Given the description of an element on the screen output the (x, y) to click on. 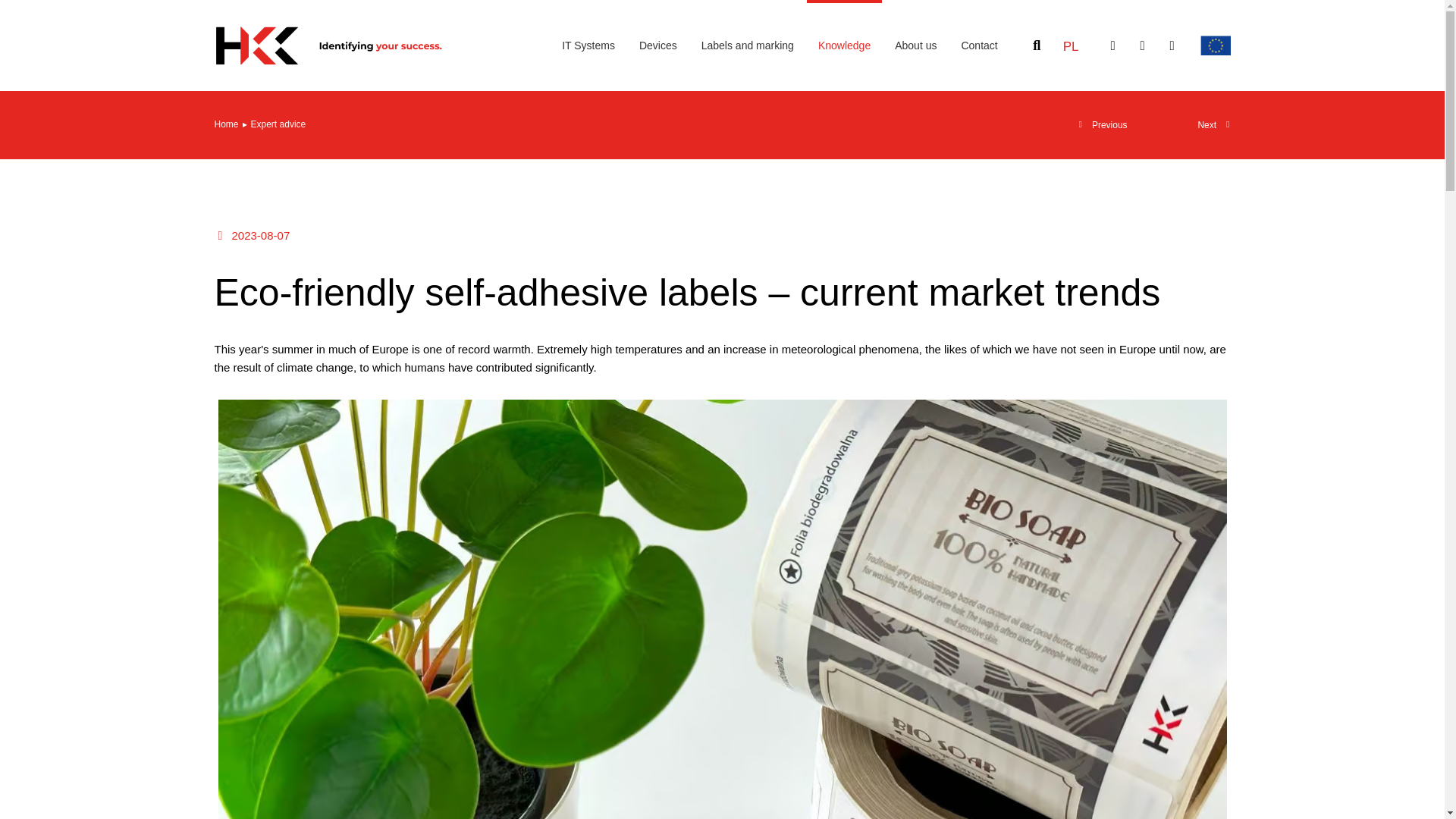
Expert advice (277, 124)
Home (226, 124)
